Given the description of an element on the screen output the (x, y) to click on. 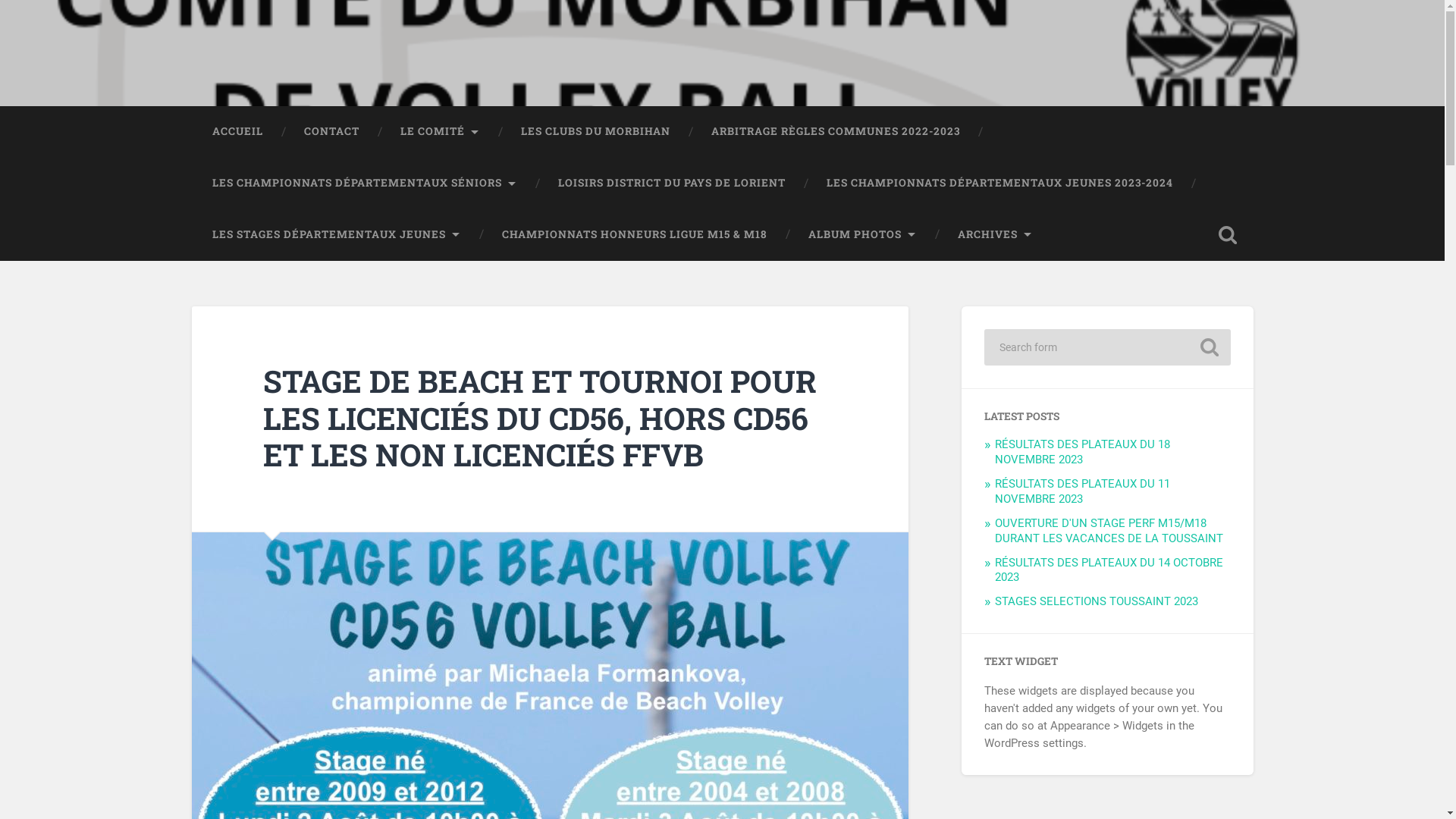
ALBUM PHOTOS Element type: text (861, 234)
Search Element type: text (1208, 346)
CHAMPIONNATS HONNEURS LIGUE M15 & M18 Element type: text (633, 234)
ARCHIVES Element type: text (995, 234)
LOISIRS DISTRICT DU PAYS DE LORIENT Element type: text (670, 183)
LES CLUBS DU MORBIHAN Element type: text (595, 131)
STAGES SELECTIONS TOUSSAINT 2023 Element type: text (1096, 601)
ACCUEIL Element type: text (236, 131)
CONTACT Element type: text (331, 131)
